Given the description of an element on the screen output the (x, y) to click on. 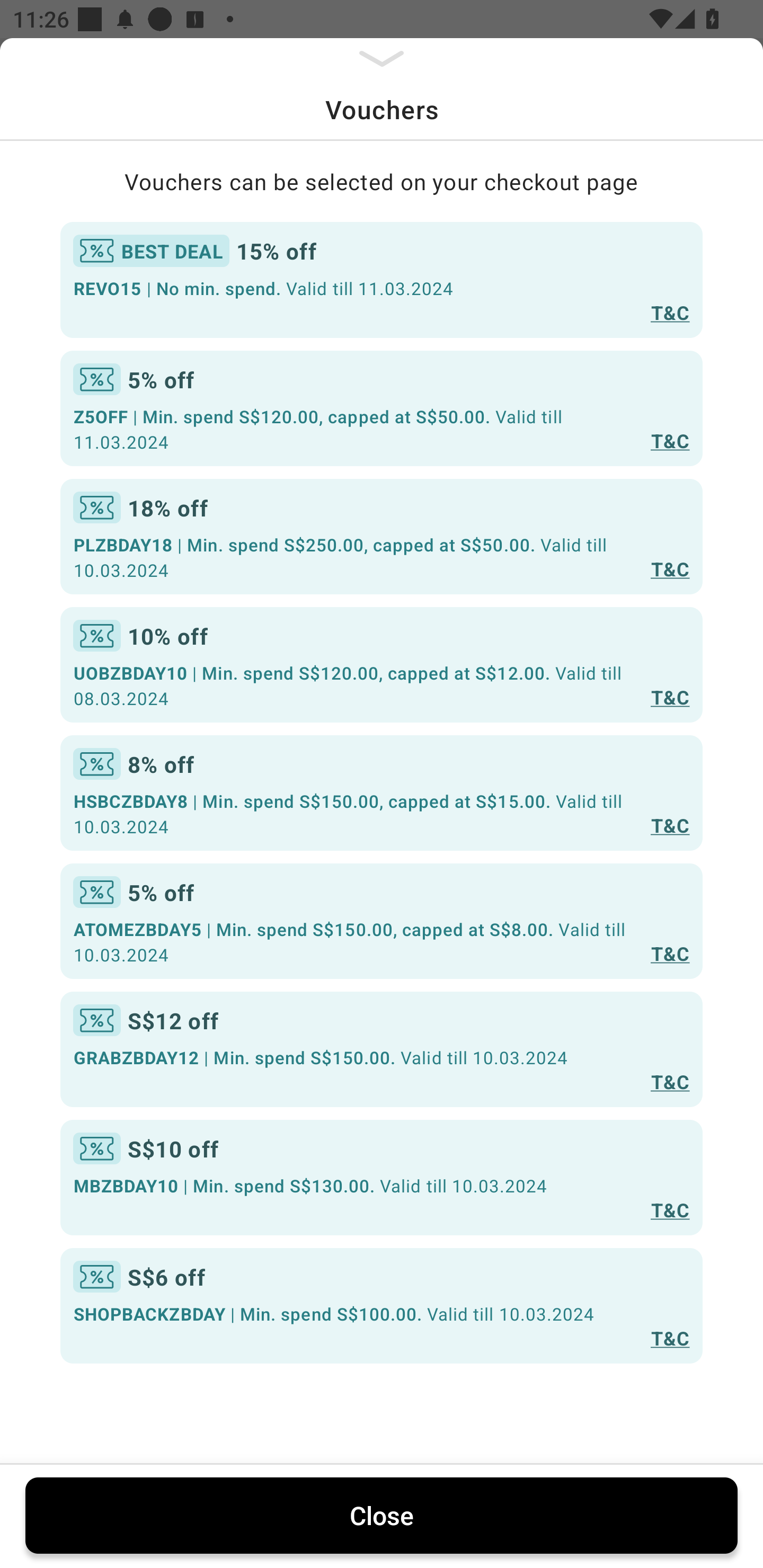
T&C (669, 311)
T&C (669, 440)
T&C (669, 568)
T&C (669, 696)
T&C (669, 824)
T&C (669, 952)
T&C (669, 1080)
T&C (669, 1209)
T&C (669, 1337)
Close (381, 1515)
